Given the description of an element on the screen output the (x, y) to click on. 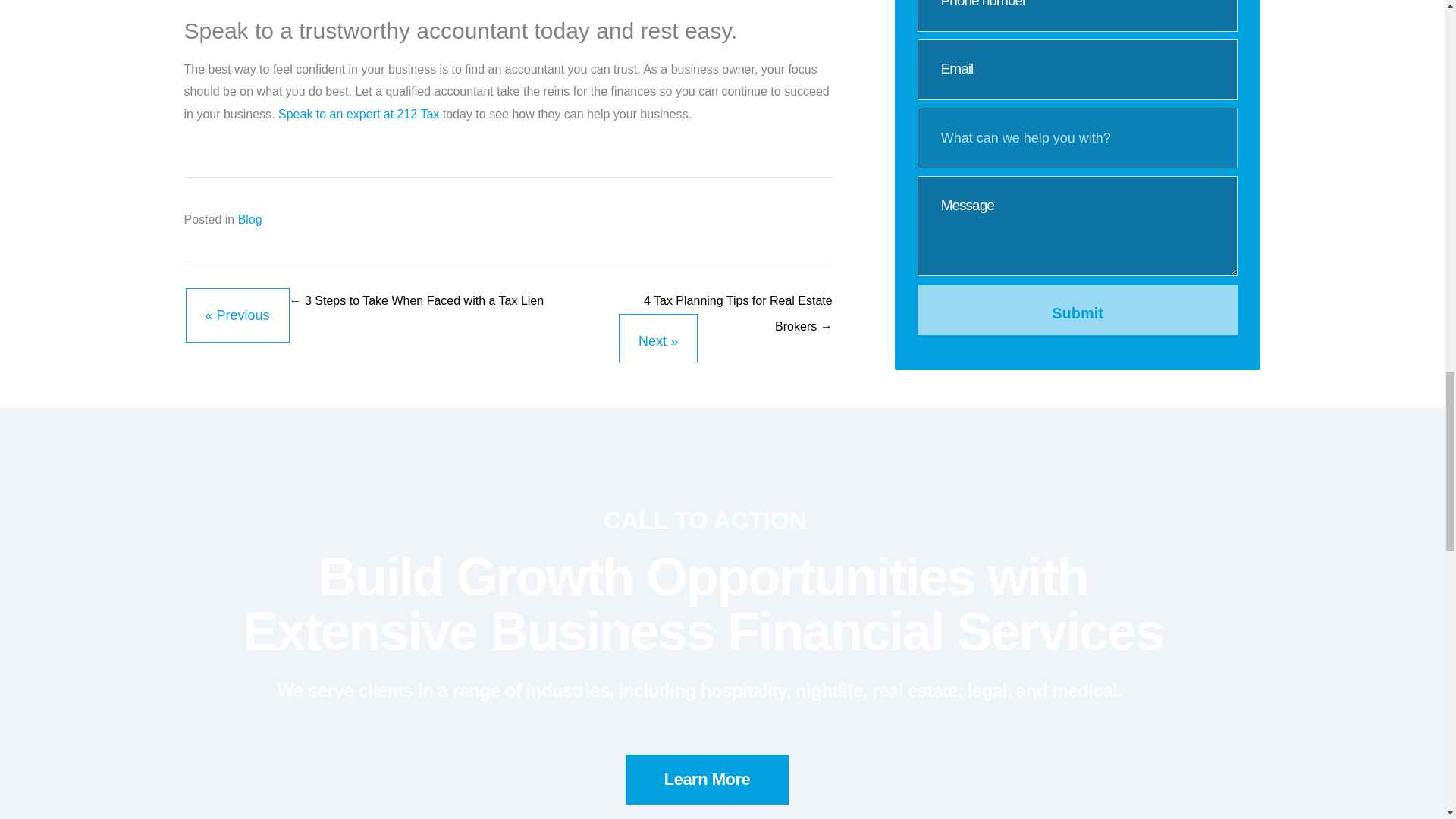
Blog (250, 219)
Learn More (707, 779)
Speak to an expert at 212 Tax (358, 113)
